Given the description of an element on the screen output the (x, y) to click on. 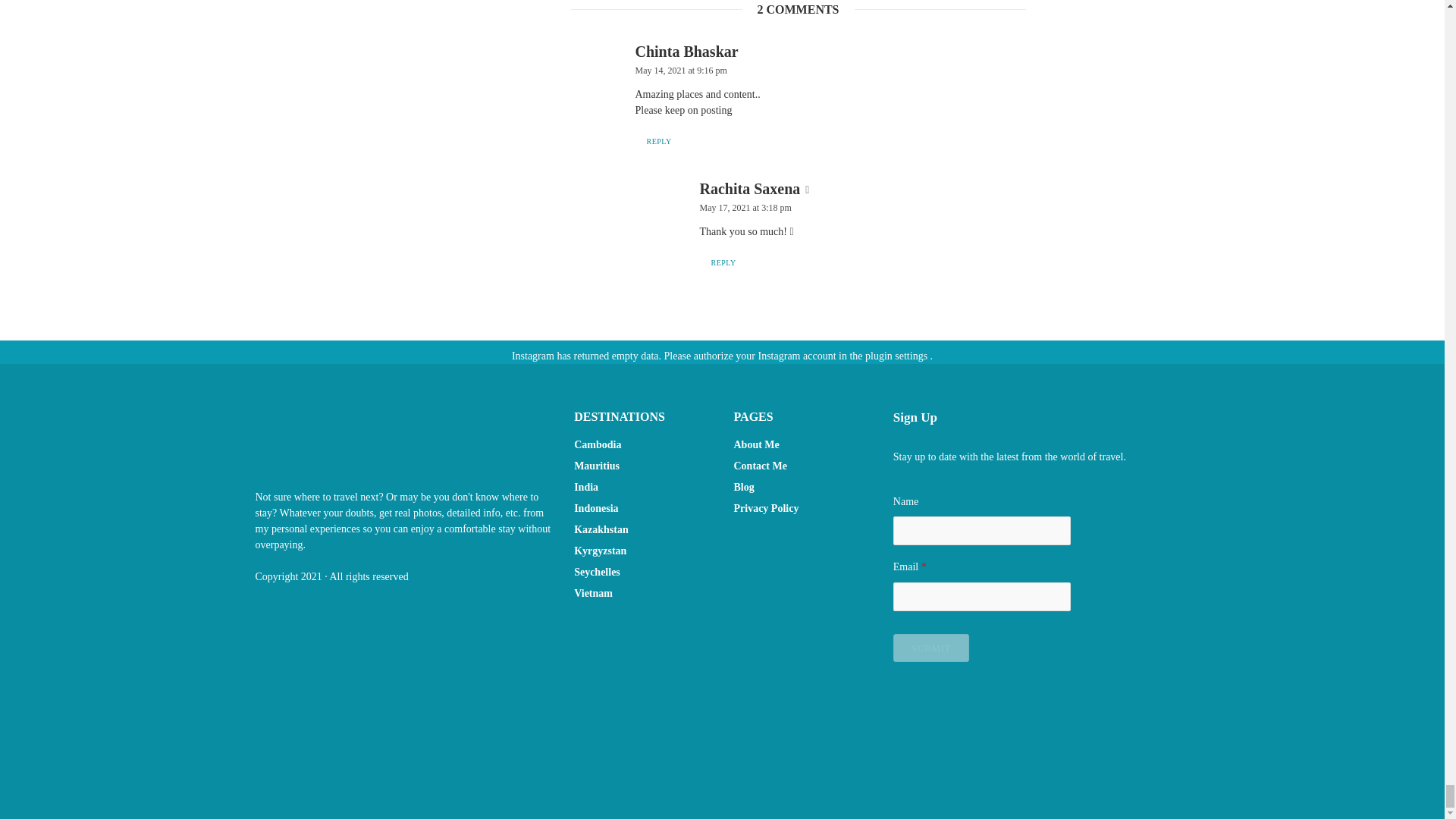
Content Protection by DMCA.com (641, 715)
